Given the description of an element on the screen output the (x, y) to click on. 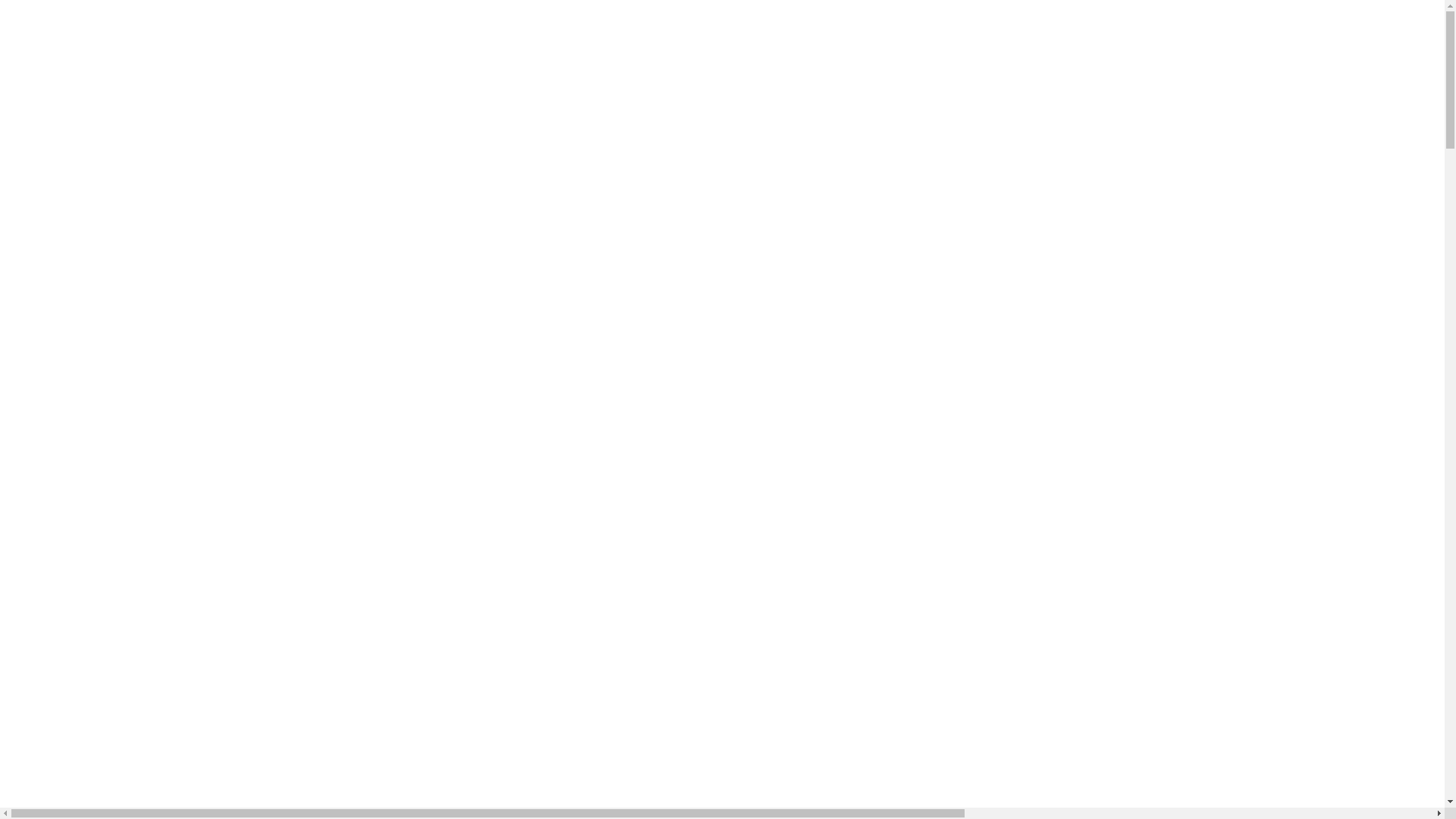
Skip to main content Element type: text (5, 11)
